Given the description of an element on the screen output the (x, y) to click on. 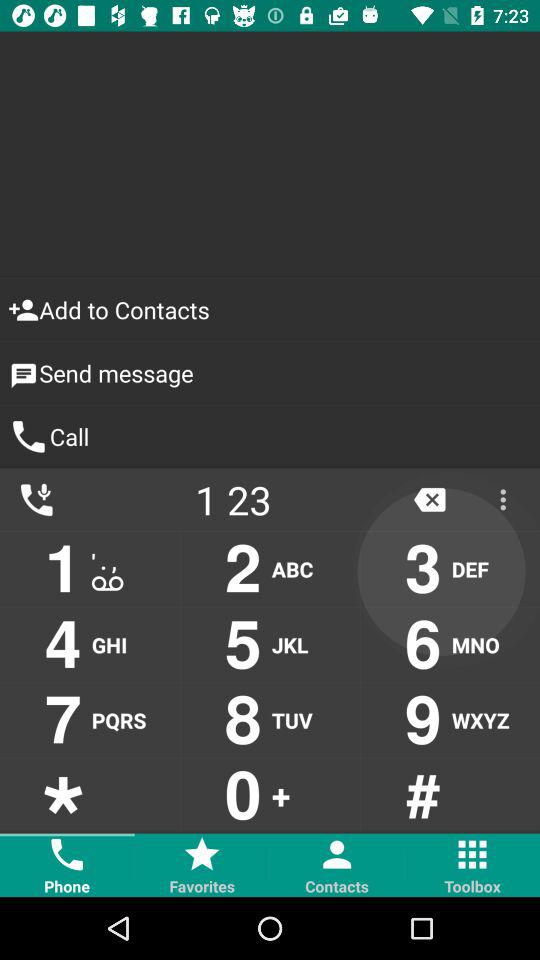
choose item to the left of the 1 233-5 item (36, 499)
